Given the description of an element on the screen output the (x, y) to click on. 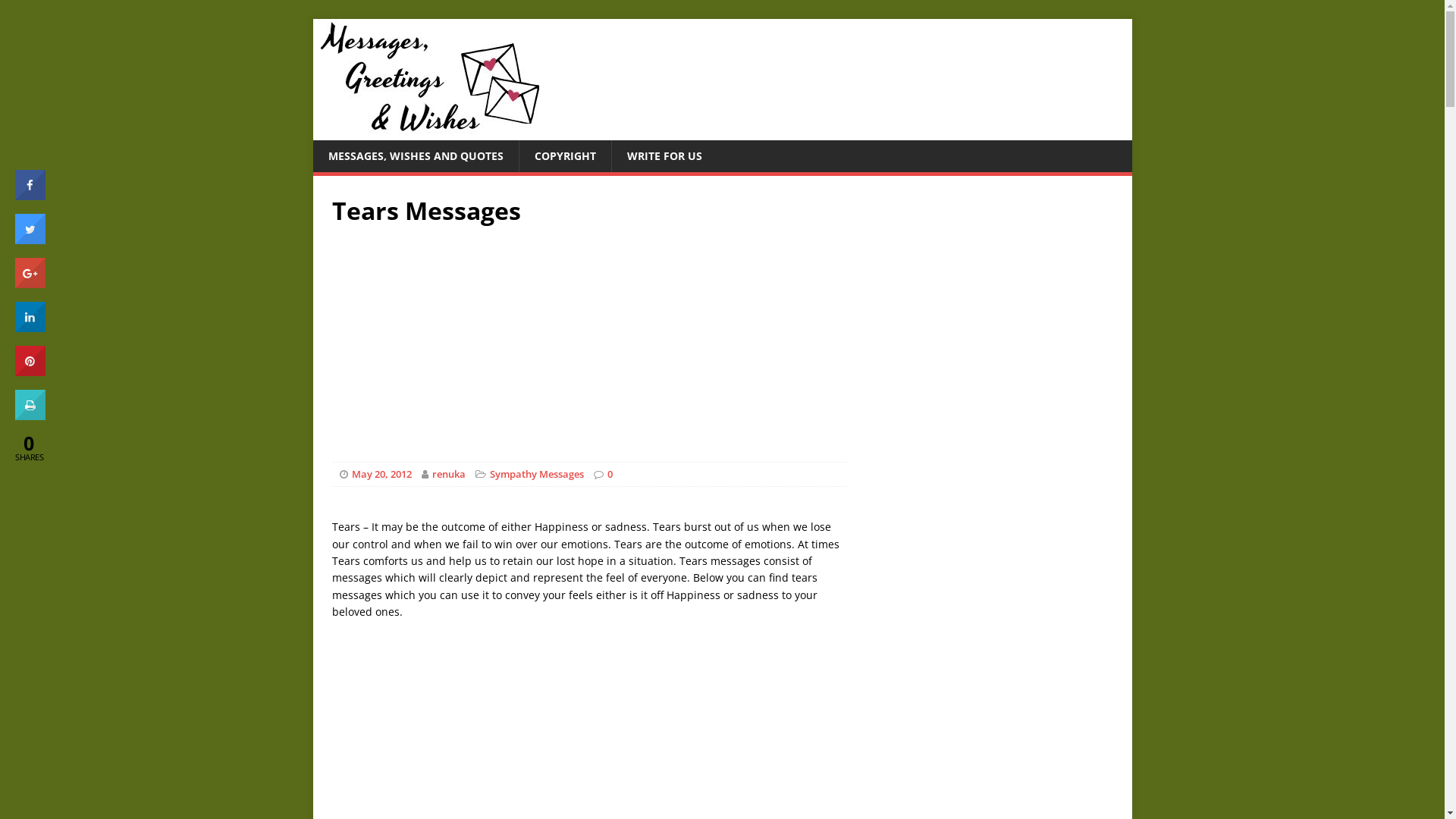
365greetings.com Element type: hover (425, 131)
renuka Element type: text (448, 473)
Share to Twitter Element type: hover (30, 239)
Advertisement Element type: hover (722, 332)
Share to LinkedIn Element type: hover (30, 327)
0 Element type: text (608, 473)
Share to Google Plus Element type: hover (30, 283)
May 20, 2012 Element type: text (381, 473)
WRITE FOR US Element type: text (664, 156)
Print this page Element type: hover (30, 415)
MESSAGES, WISHES AND QUOTES Element type: text (414, 156)
COPYRIGHT Element type: text (564, 156)
Share to Pinterest Element type: hover (30, 371)
Share to Facebook Element type: hover (30, 195)
Sympathy Messages Element type: text (536, 473)
Advertisement Element type: hover (509, 508)
